Given the description of an element on the screen output the (x, y) to click on. 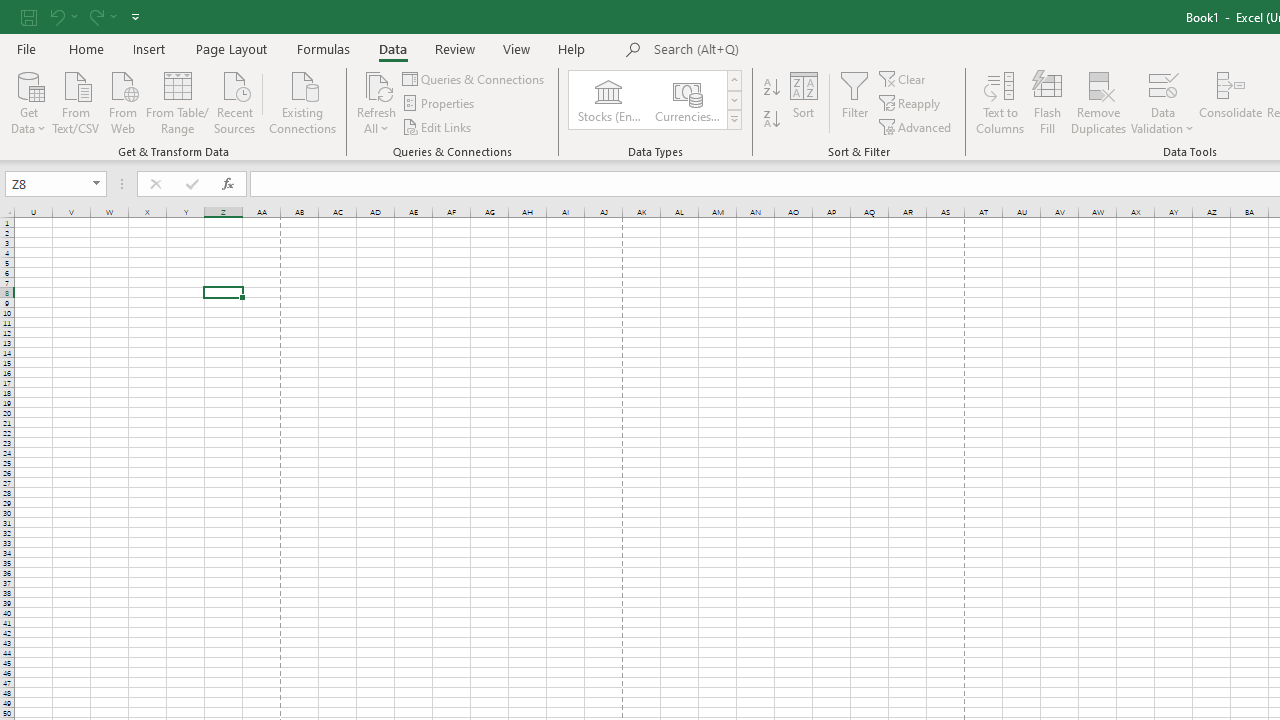
Advanced... (916, 126)
Sort... (804, 102)
Flash Fill (1047, 102)
Existing Connections (303, 101)
Microsoft search (792, 49)
Queries & Connections (474, 78)
Currencies (English) (686, 100)
Sort A to Z (772, 87)
From Web (122, 101)
